Given the description of an element on the screen output the (x, y) to click on. 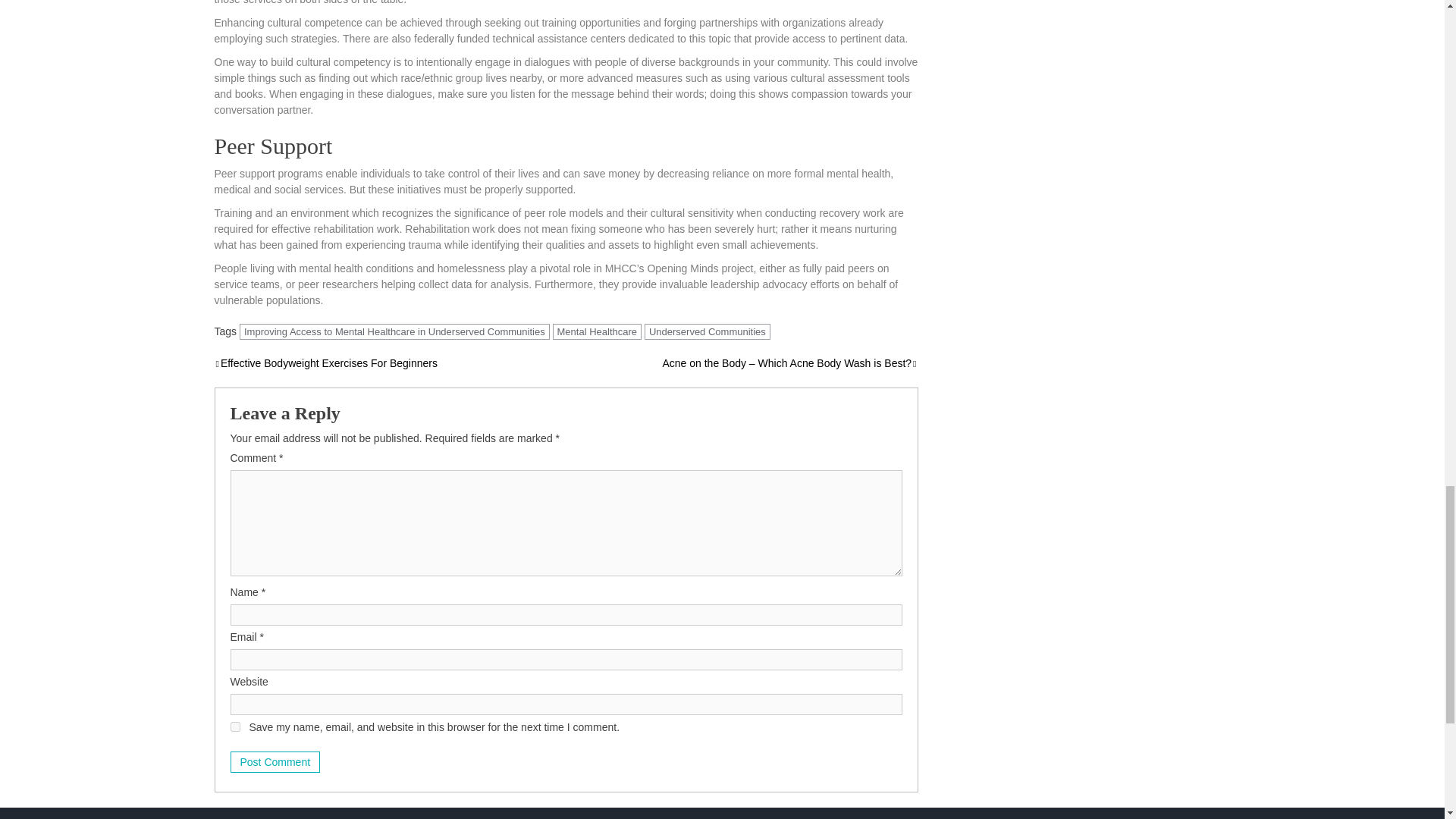
yes (235, 726)
Post Comment (275, 762)
